Given the description of an element on the screen output the (x, y) to click on. 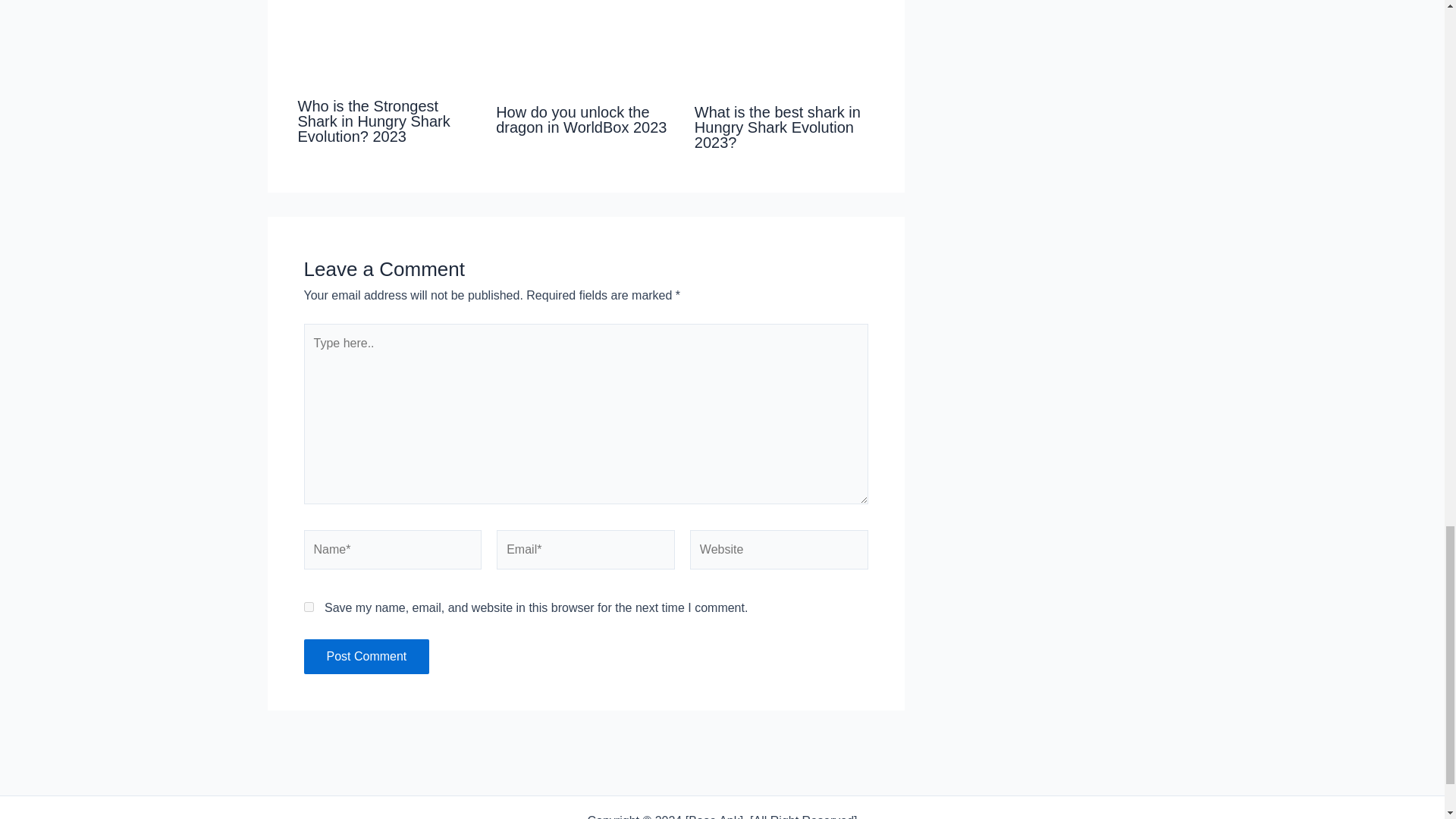
Love (387, 43)
Love (784, 46)
Love (585, 46)
yes (307, 606)
Post Comment (365, 656)
